Given the description of an element on the screen output the (x, y) to click on. 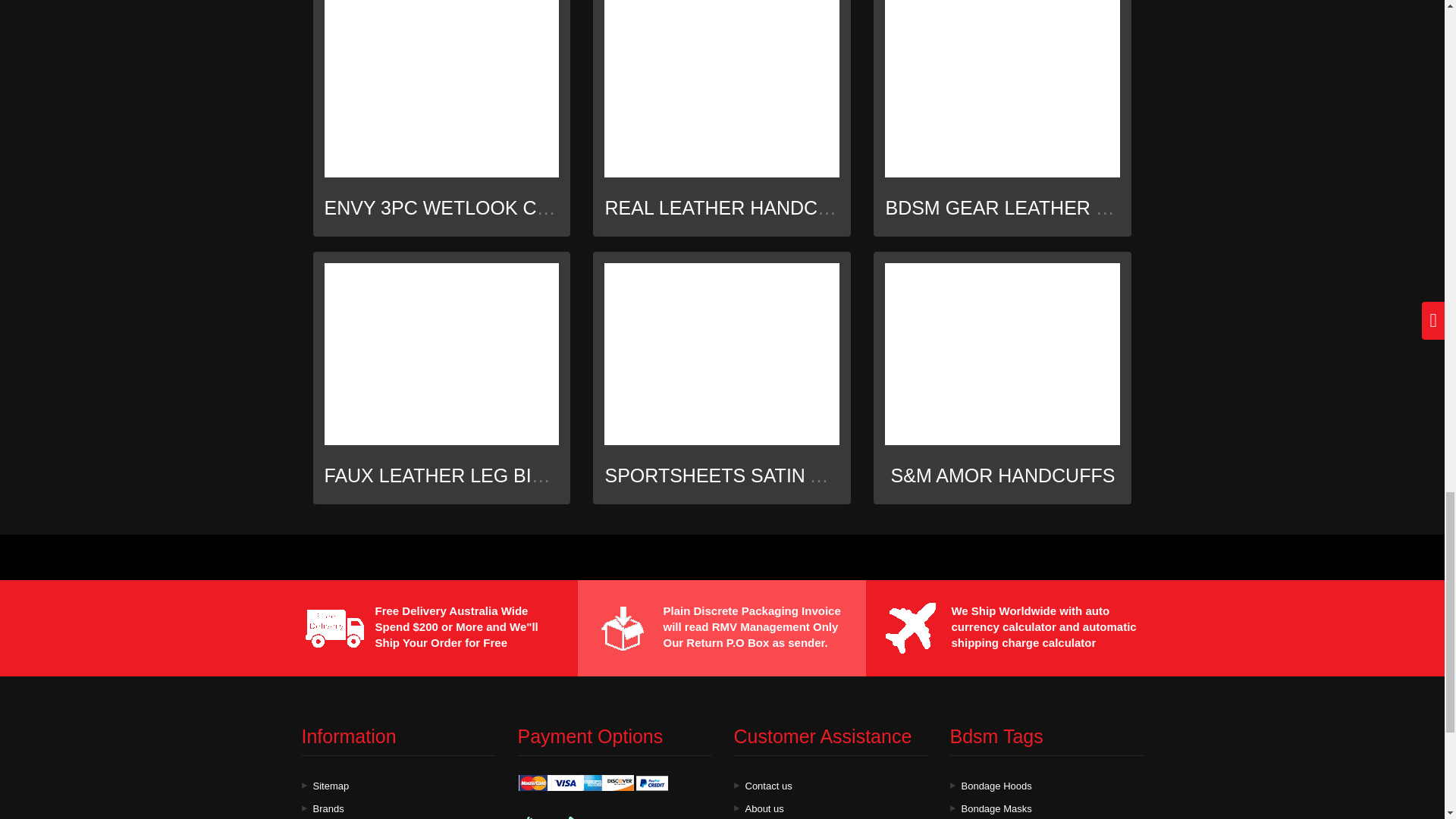
FAUX LEATHER LEG BINDER (454, 475)
SPORTSHEETS SATIN AND LACE BONDAGE LOVERS KIT (862, 475)
Sitemap (331, 785)
REAL LEATHER HANDCUFFS (735, 207)
ENVY 3PC WETLOOK CHEST HARNESS (504, 207)
